Given the description of an element on the screen output the (x, y) to click on. 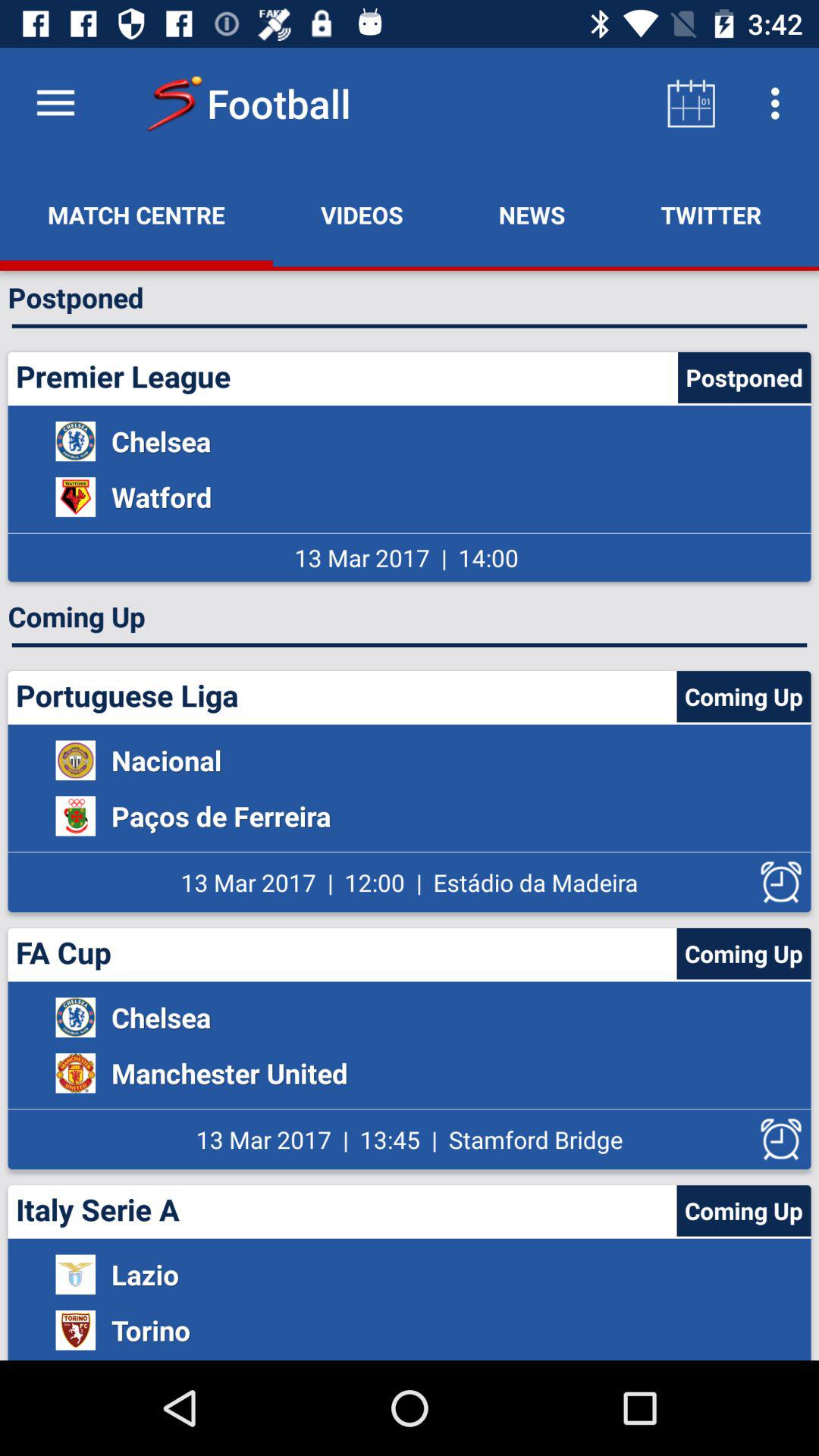
tap the icon above the postponed item (136, 214)
